Given the description of an element on the screen output the (x, y) to click on. 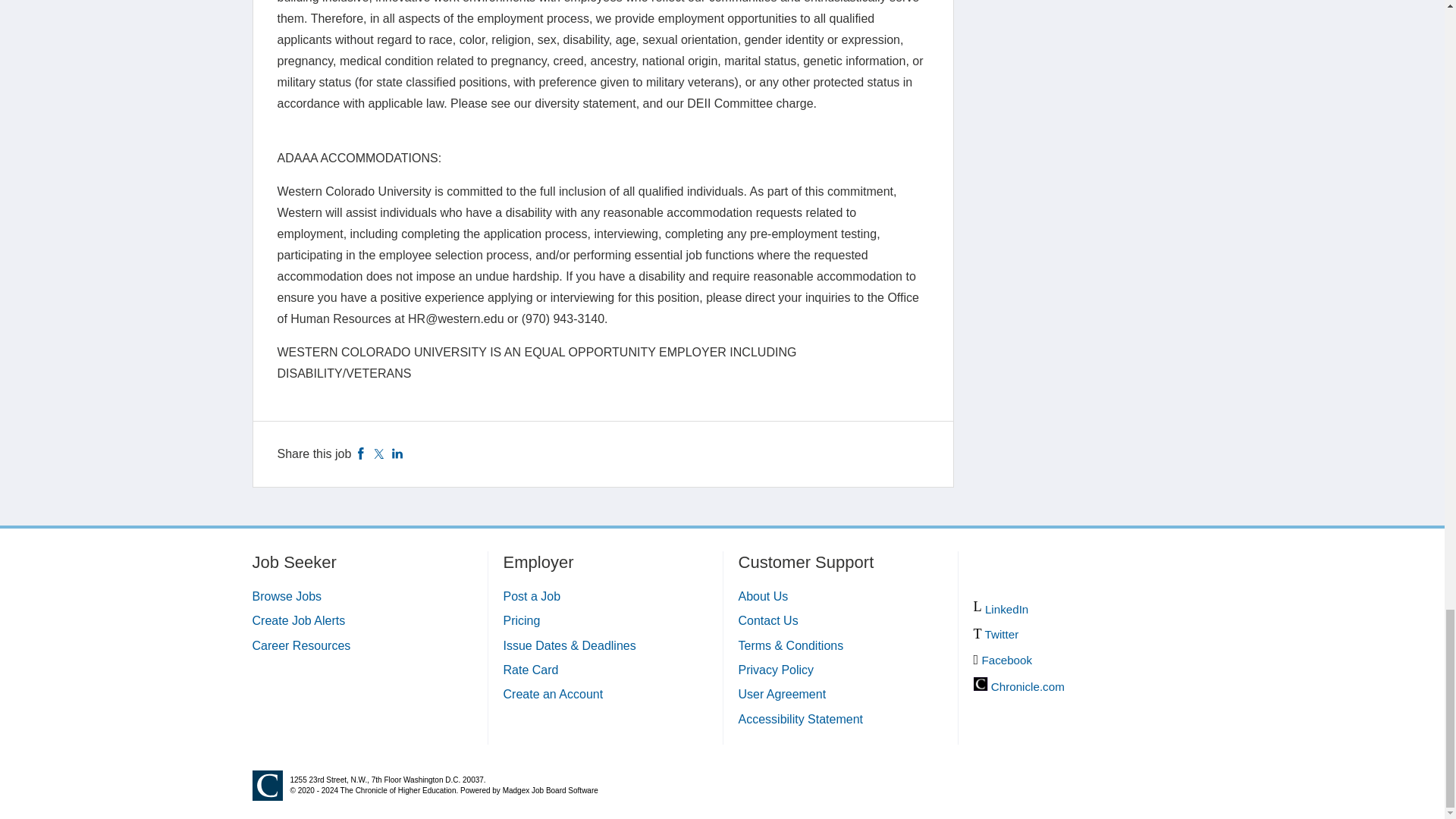
Twitter (378, 453)
Pricing (521, 620)
Career Resources (300, 645)
Browse Jobs (286, 595)
Create Job Alerts (298, 620)
LinkedIn (397, 453)
Post a Job (531, 595)
Facebook (360, 453)
